Given the description of an element on the screen output the (x, y) to click on. 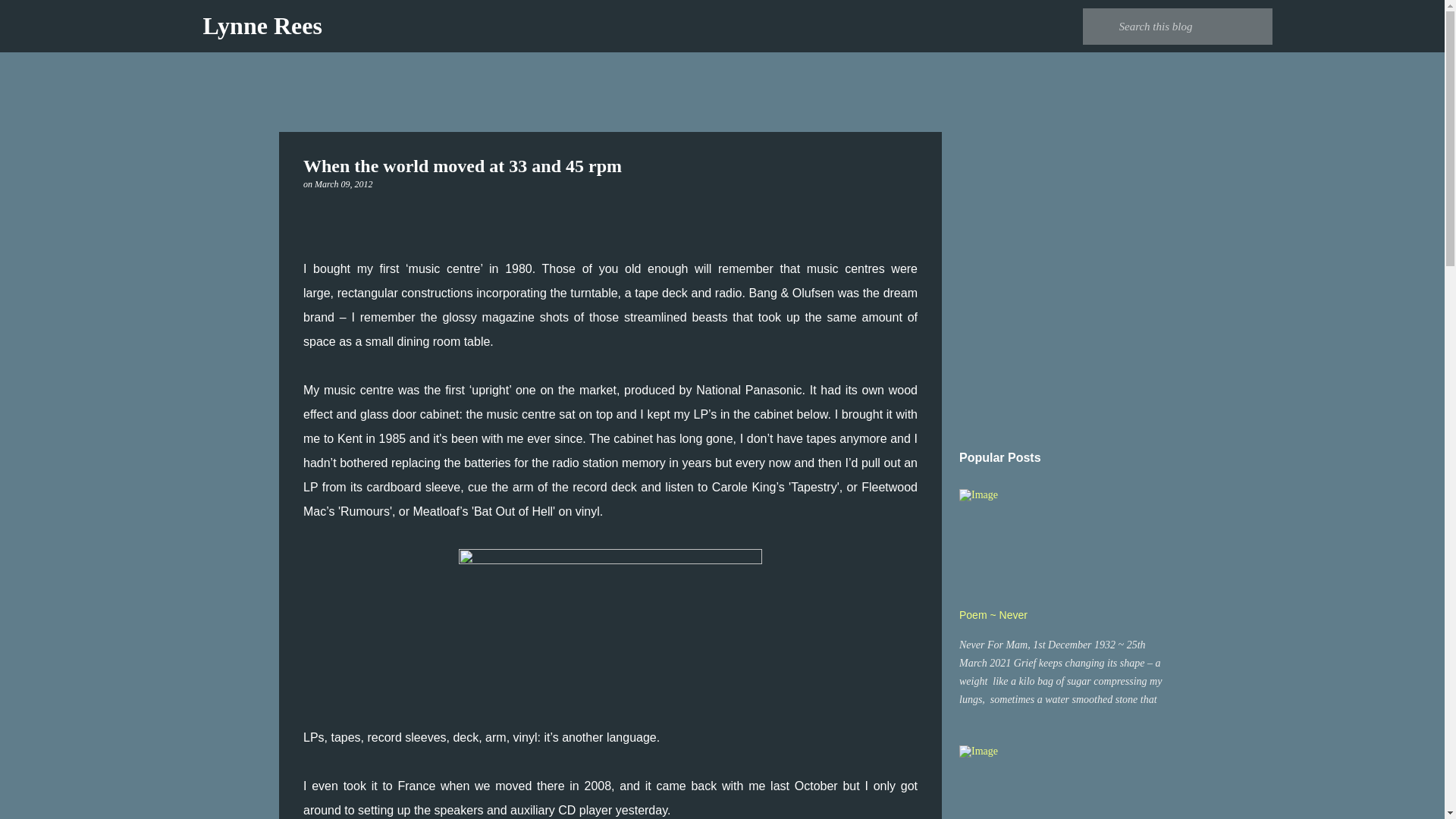
March 09, 2012 (343, 184)
permanent link (343, 184)
Lynne Rees (262, 25)
